Given the description of an element on the screen output the (x, y) to click on. 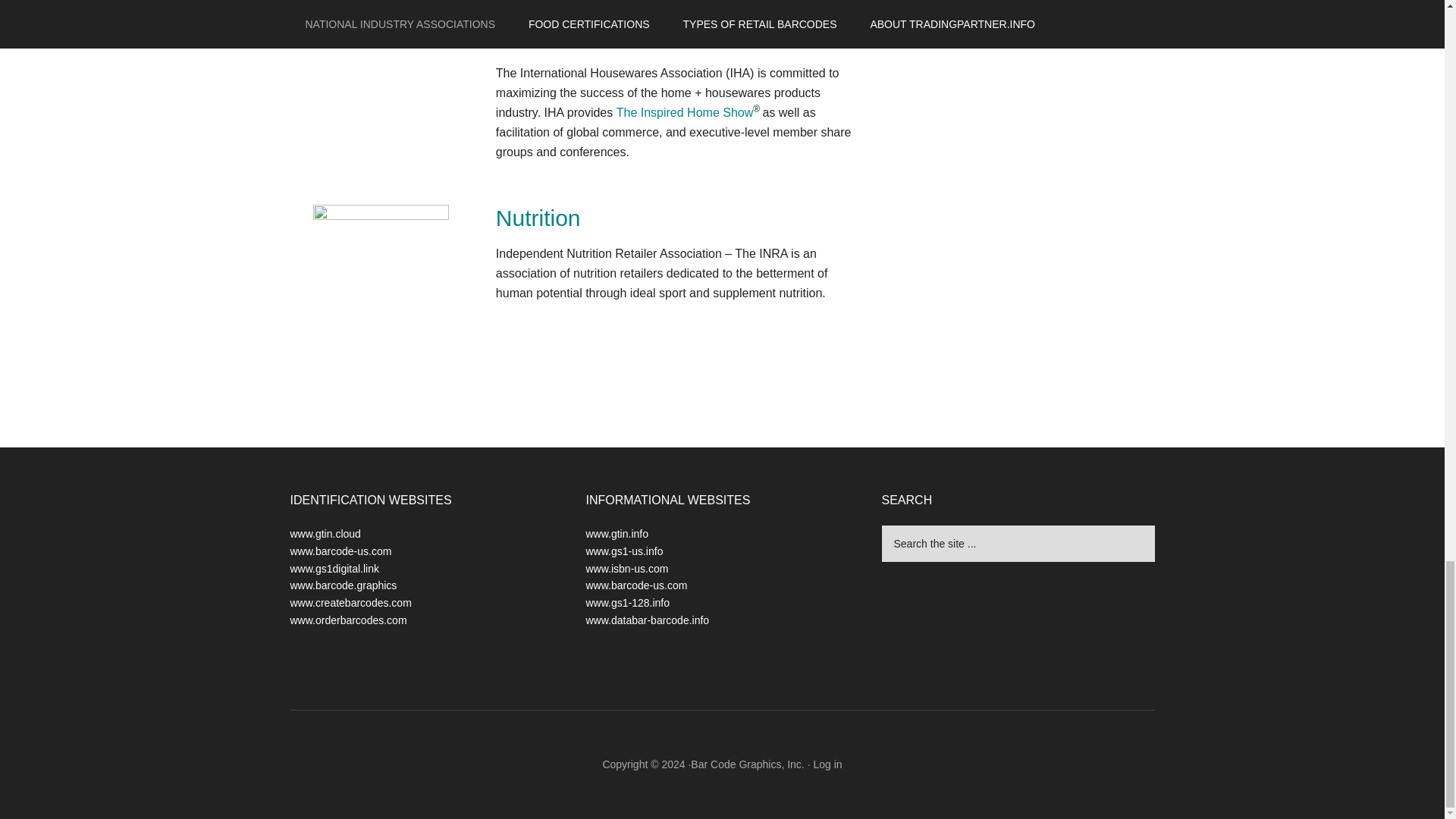
www.createbarcodes.com (349, 603)
www.orderbarcodes.com (347, 620)
www.gs1digital.link (333, 568)
www.barcode.graphics (342, 585)
www.gtin.info (616, 533)
Housewares (559, 37)
Nutrition (538, 217)
The Inspired Home Show (684, 112)
